Given the description of an element on the screen output the (x, y) to click on. 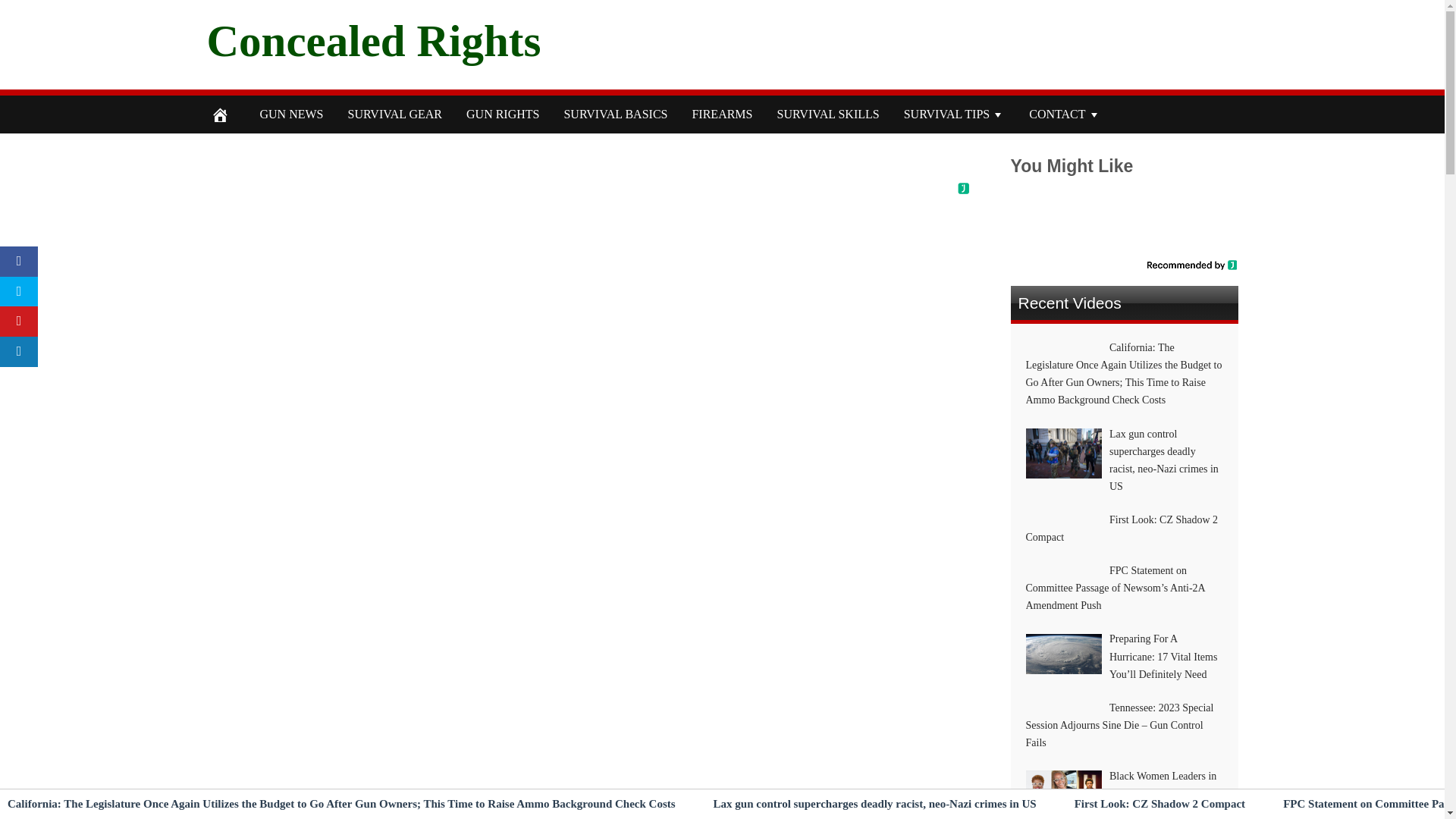
Concealed Rights (373, 40)
GUN RIGHTS (502, 114)
GUN NEWS (290, 114)
SURVIVAL GEAR (394, 114)
SURVIVAL BASICS (615, 114)
FIREARMS (721, 114)
First Look: CZ Shadow 2 Compact (1159, 803)
